Given the description of an element on the screen output the (x, y) to click on. 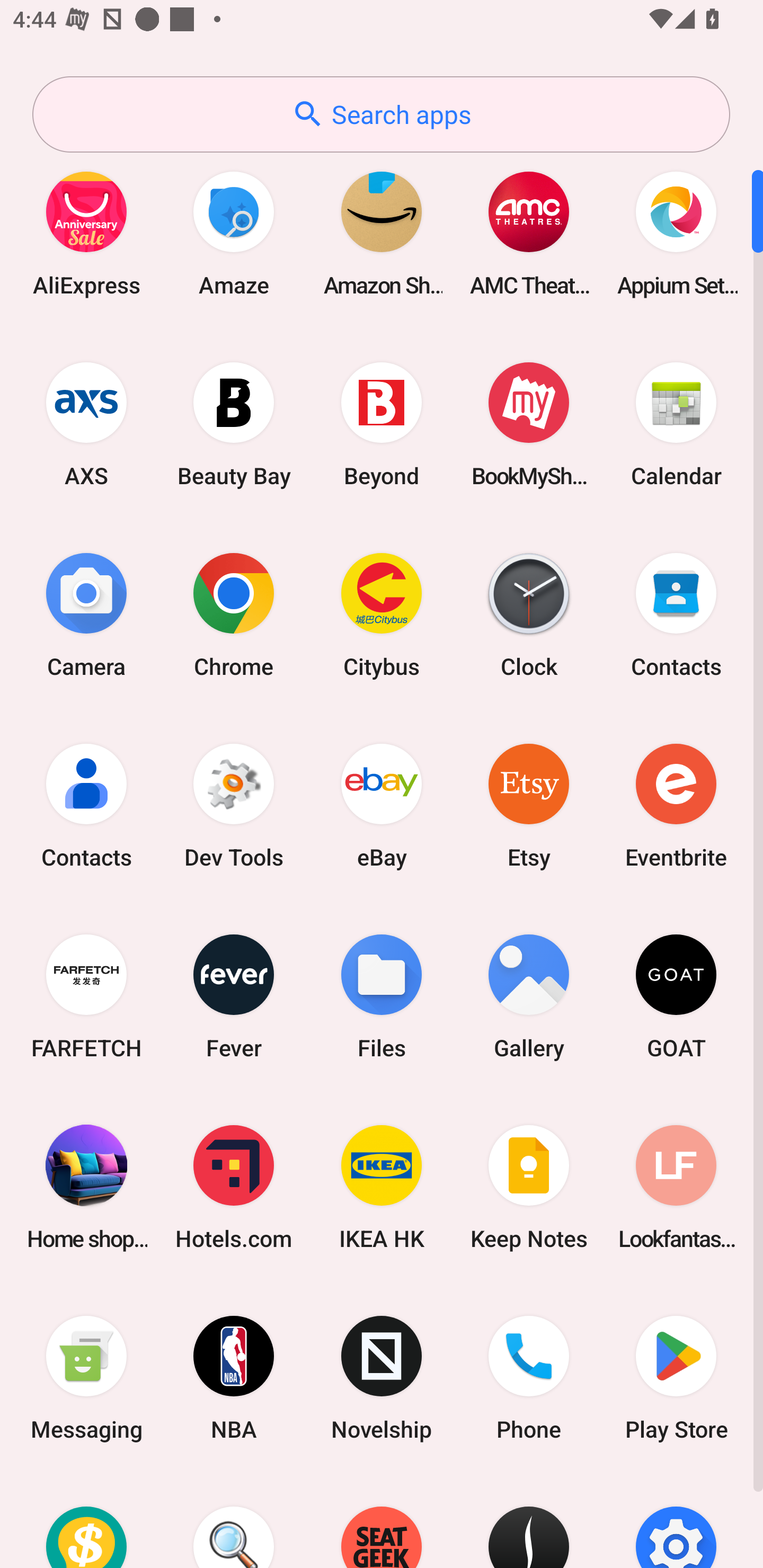
  Search apps (381, 114)
AliExpress (86, 233)
Amaze (233, 233)
Amazon Shopping (381, 233)
AMC Theatres (528, 233)
Appium Settings (676, 233)
AXS (86, 424)
Beauty Bay (233, 424)
Beyond (381, 424)
BookMyShow (528, 424)
Calendar (676, 424)
Camera (86, 614)
Chrome (233, 614)
Citybus (381, 614)
Clock (528, 614)
Contacts (676, 614)
Contacts (86, 805)
Dev Tools (233, 805)
eBay (381, 805)
Etsy (528, 805)
Eventbrite (676, 805)
FARFETCH (86, 996)
Fever (233, 996)
Files (381, 996)
Gallery (528, 996)
GOAT (676, 996)
Home shopping (86, 1186)
Hotels.com (233, 1186)
IKEA HK (381, 1186)
Keep Notes (528, 1186)
Lookfantastic (676, 1186)
Messaging (86, 1377)
NBA (233, 1377)
Novelship (381, 1377)
Phone (528, 1377)
Play Store (676, 1377)
Price (86, 1520)
Search (233, 1520)
SeatGeek (381, 1520)
Sephora (528, 1520)
Settings (676, 1520)
